Given the description of an element on the screen output the (x, y) to click on. 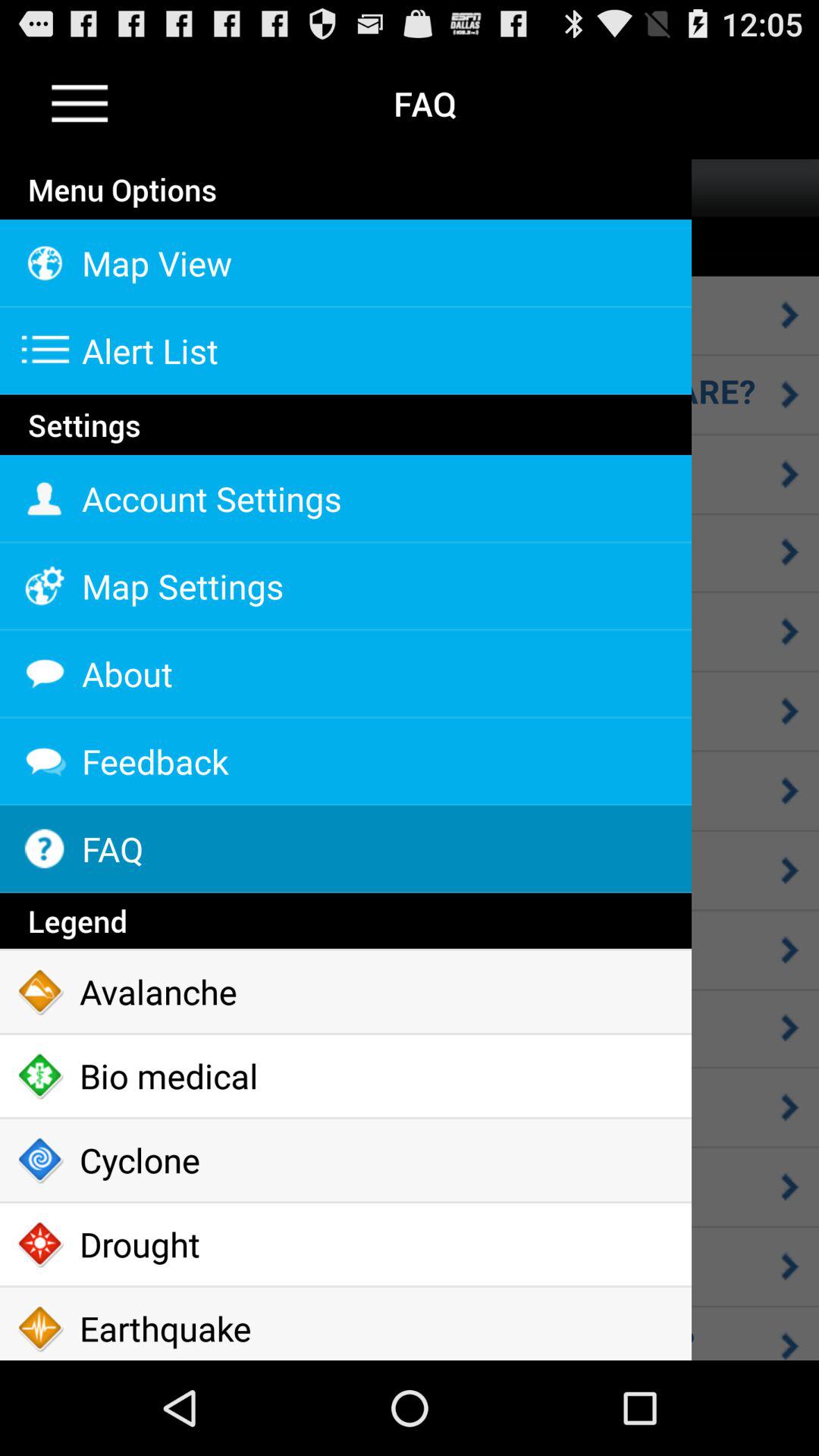
turn off icon above the drought icon (345, 1160)
